Given the description of an element on the screen output the (x, y) to click on. 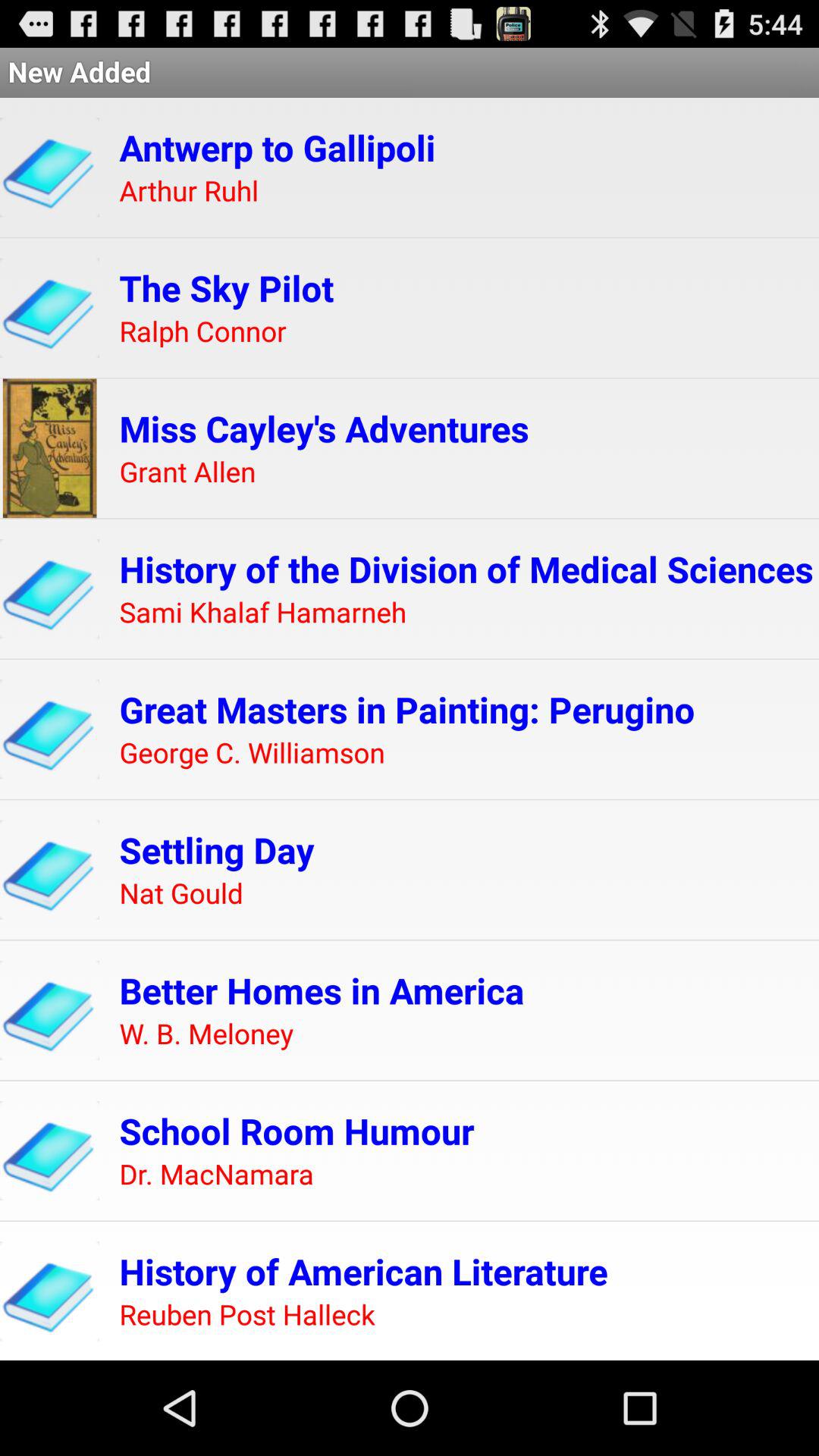
tap icon above great masters in (262, 613)
